Given the description of an element on the screen output the (x, y) to click on. 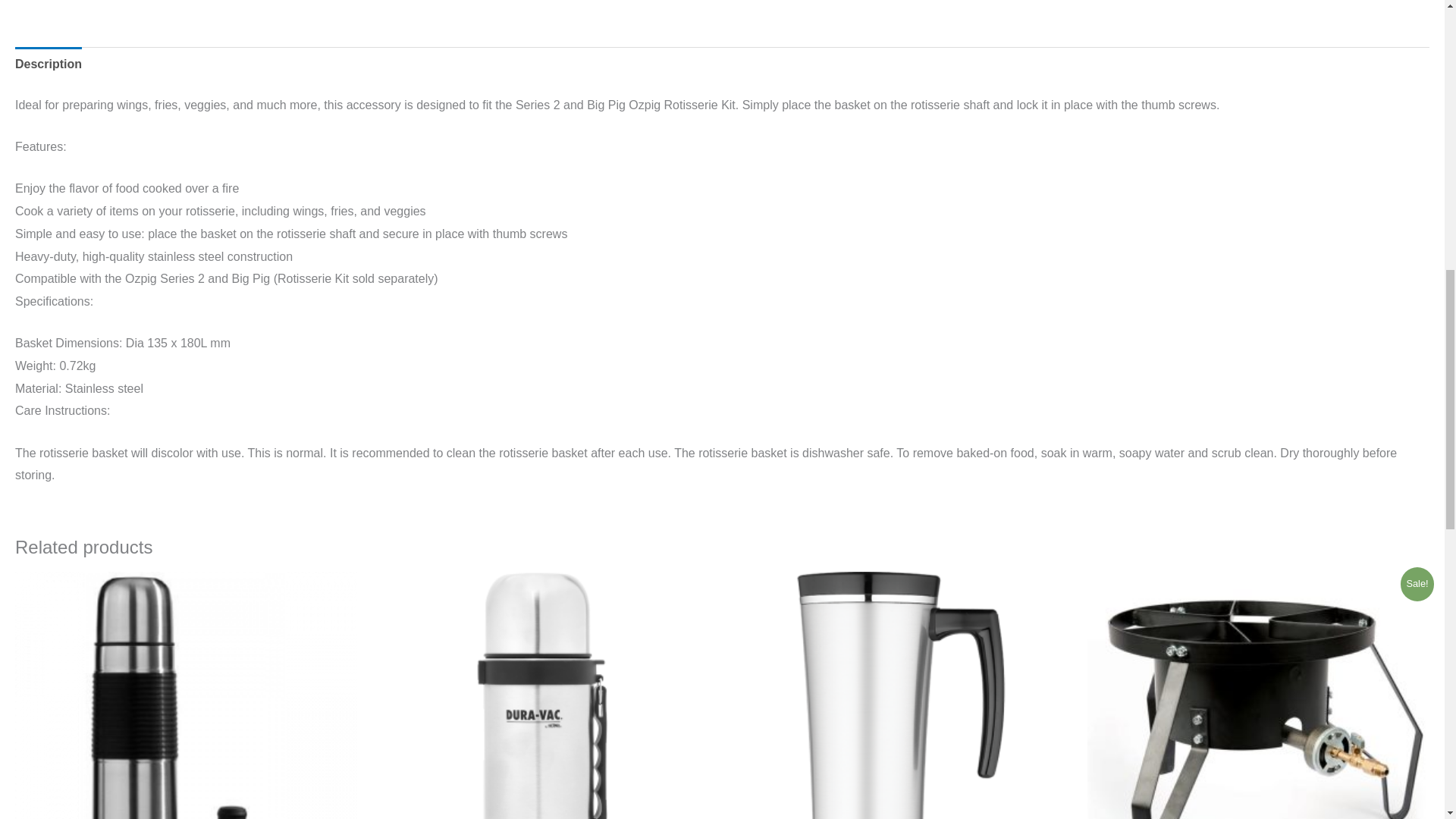
Description (47, 63)
OUT OF STOCK (543, 695)
OUT OF STOCK (900, 695)
OUT OF STOCK (185, 695)
